Given the description of an element on the screen output the (x, y) to click on. 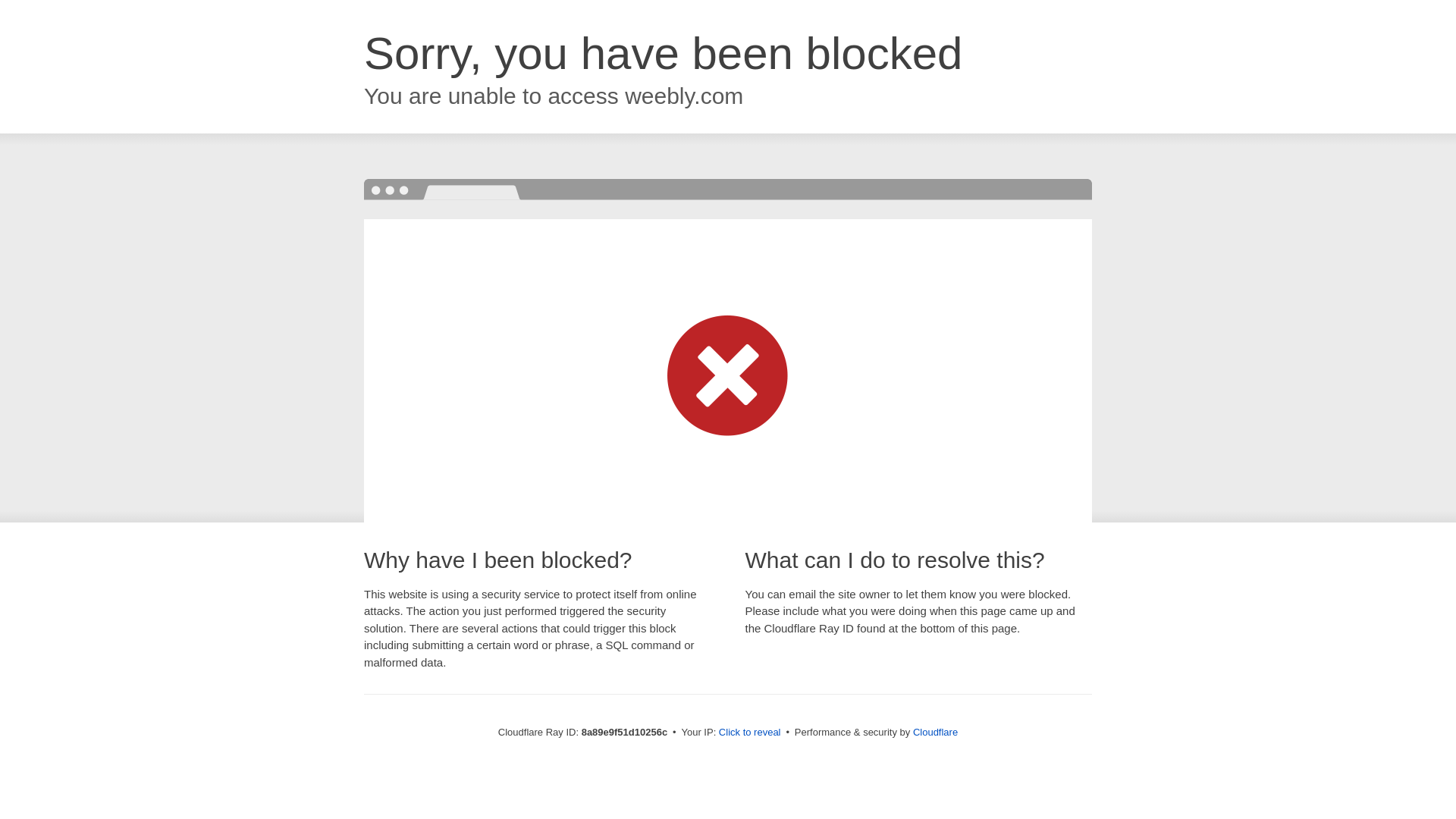
Click to reveal (749, 732)
Cloudflare (935, 731)
